Given the description of an element on the screen output the (x, y) to click on. 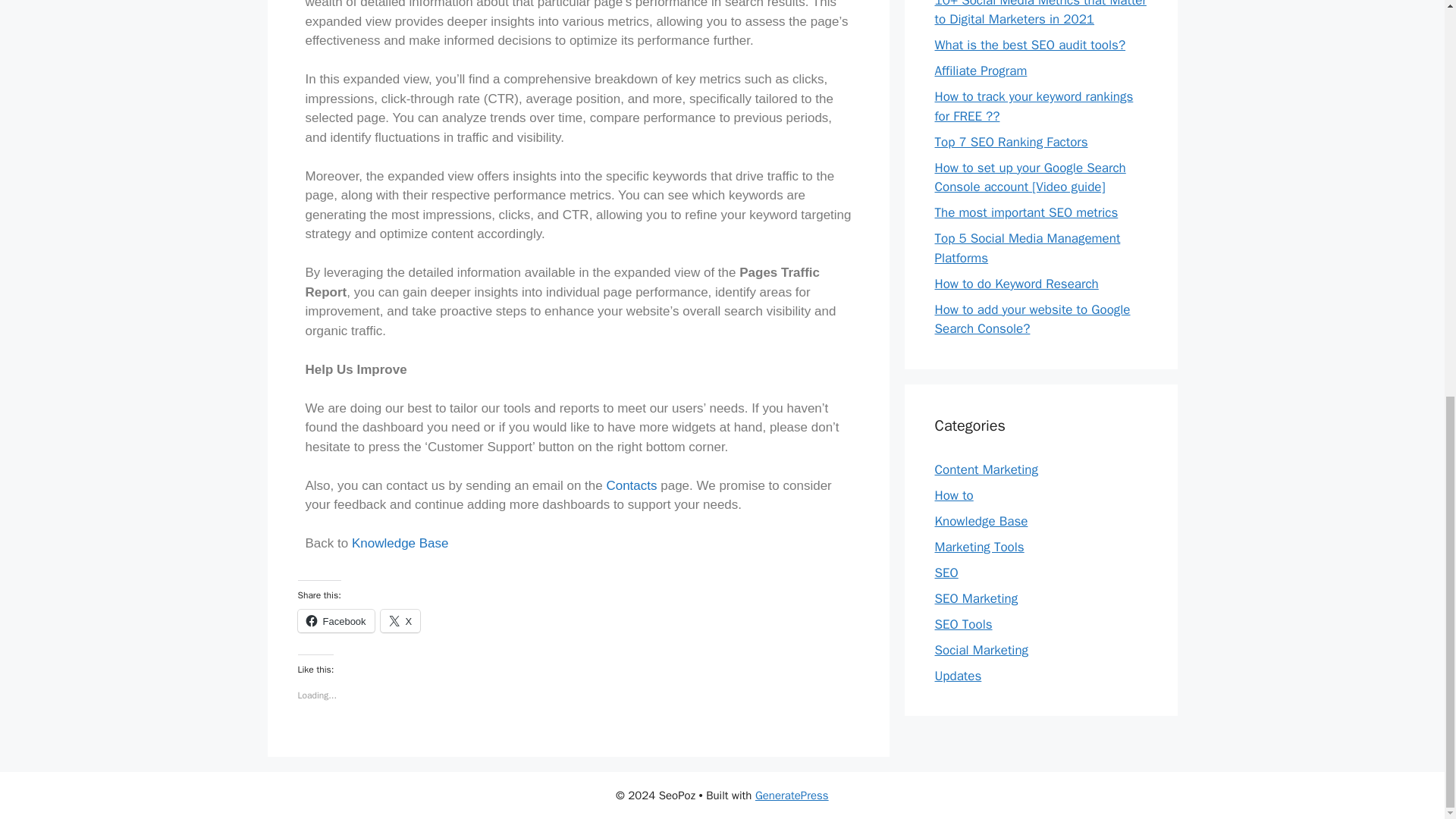
Click to share on Facebook (335, 620)
Content Marketing (985, 469)
Contacts (630, 485)
Knowledge Base (400, 543)
Click to share on X (400, 620)
Affiliate Program (980, 70)
How to add your website to Google Search Console? (1031, 318)
The most important SEO metrics (1026, 212)
Facebook (335, 620)
Top 7 SEO Ranking Factors (1010, 141)
What is the best SEO audit tools? (1029, 44)
How to do Keyword Research (1015, 283)
Knowledge Base (980, 521)
X (400, 620)
How to track your keyword rankings for FREE ?? (1033, 106)
